Given the description of an element on the screen output the (x, y) to click on. 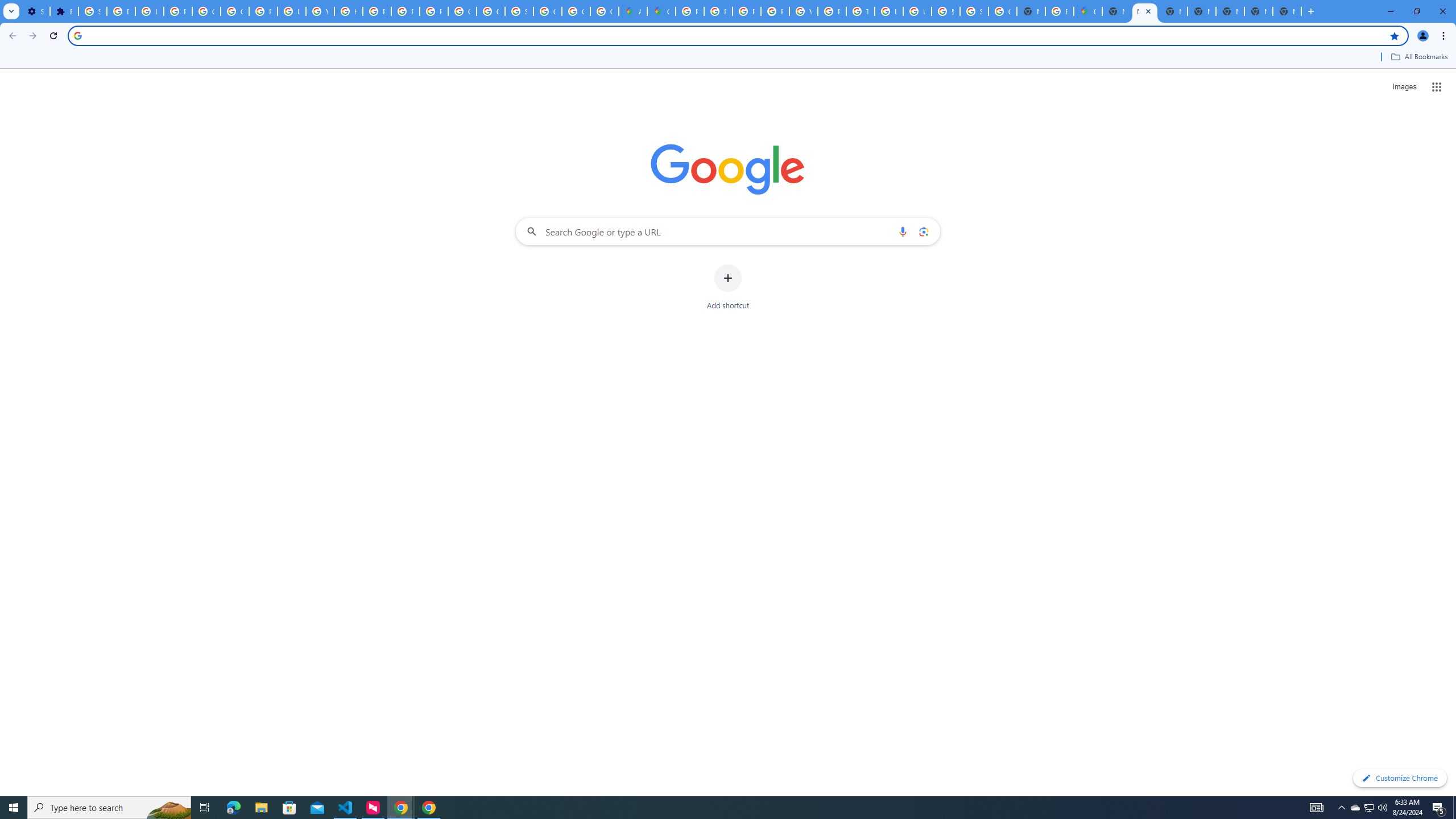
New Tab (1287, 11)
Create your Google Account (604, 11)
New Tab (1116, 11)
Delete photos & videos - Computer - Google Photos Help (120, 11)
